Given the description of an element on the screen output the (x, y) to click on. 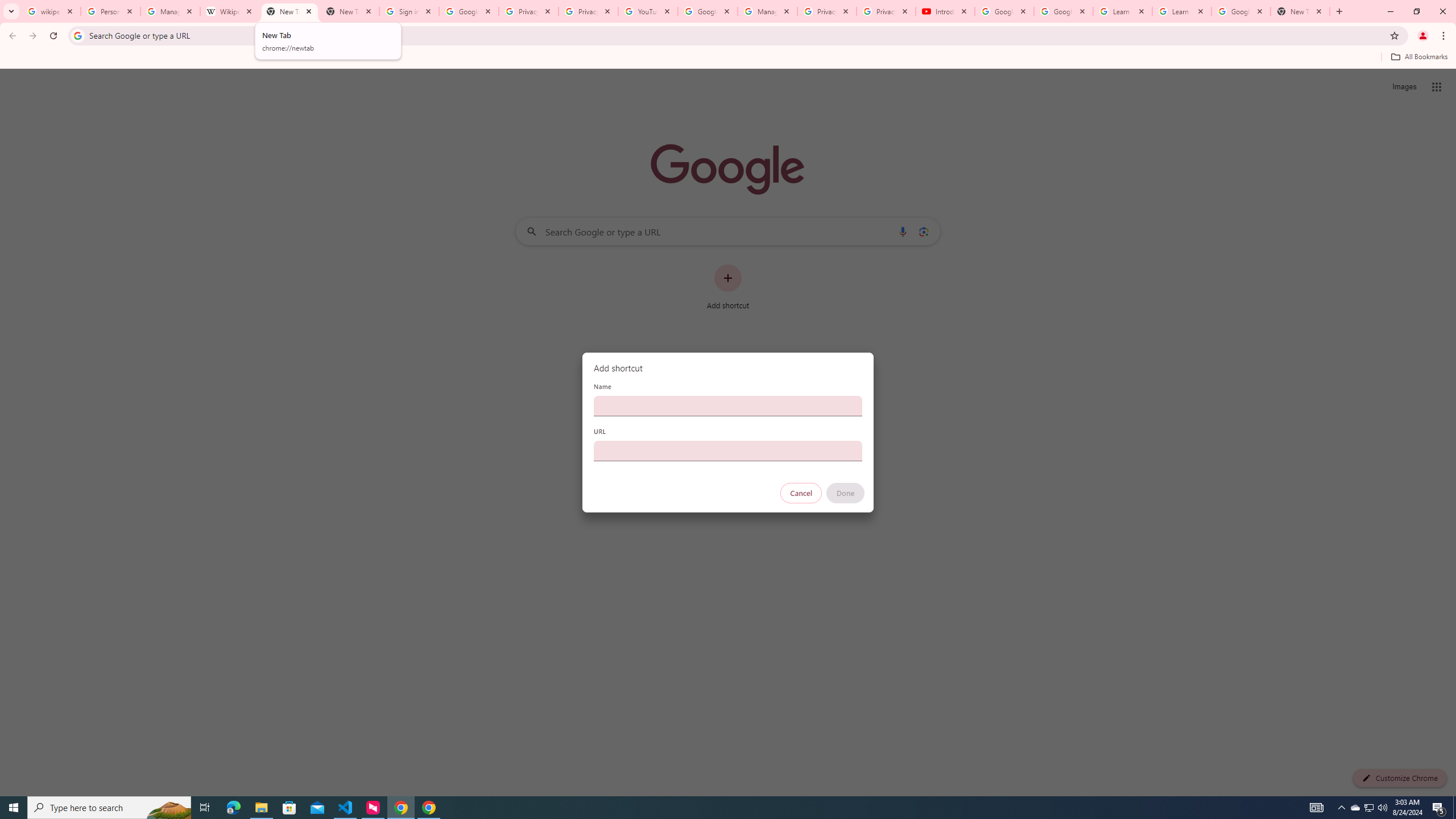
Google Account Help (1063, 11)
Cancel (801, 493)
Google Account Help (707, 11)
YouTube (647, 11)
Google Drive: Sign-in (468, 11)
